Given the description of an element on the screen output the (x, y) to click on. 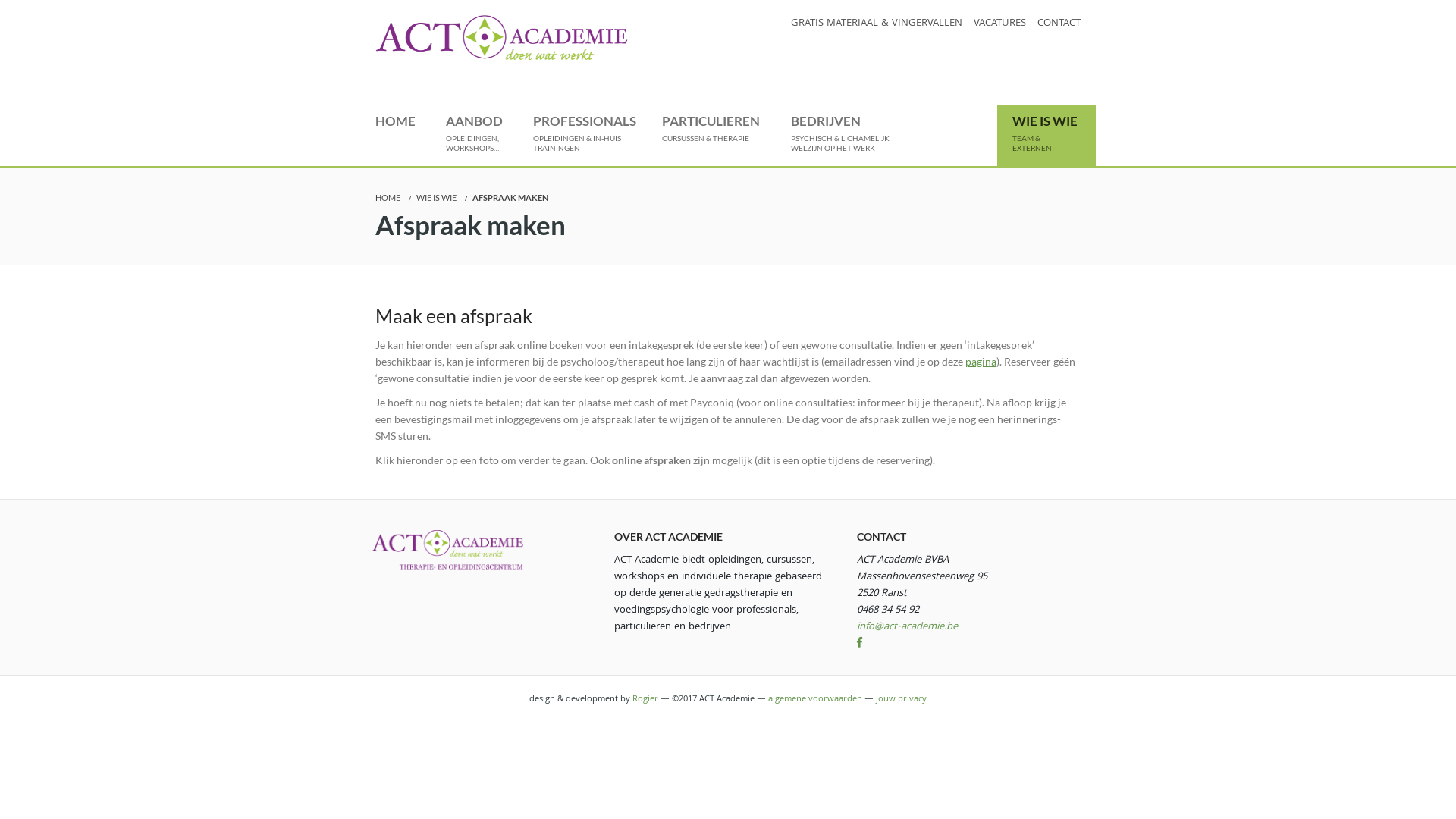
GRATIS MATERIAAL & VINGERVALLEN Element type: text (876, 23)
CONTACT Element type: text (1058, 23)
WIE IS WIE
TEAM & EXTERNEN  Element type: text (1046, 135)
BEDRIJVEN
PSYCHISCH & LICHAMELIJK WELZIJN OP HET WERK  Element type: text (839, 135)
AFSPRAAK MAKEN Element type: text (510, 197)
ACT Academie Element type: text (501, 37)
algemene voorwaarden Element type: text (815, 699)
Rogier Element type: text (645, 699)
PROFESSIONALS
OPLEIDINGEN & IN-HUIS TRAININGEN  Element type: text (581, 135)
PARTICULIEREN
CURSUSSEN & THERAPIE  Element type: text (710, 135)
facebook pagina Element type: hover (859, 643)
jouw privacy Element type: text (900, 699)
HOME Element type: text (387, 197)
VACATURES Element type: text (999, 23)
info@act-academie.be Element type: text (906, 626)
WIE IS WIE Element type: text (436, 197)
pagina Element type: text (980, 360)
HOME
  Element type: text (395, 135)
